Given the description of an element on the screen output the (x, y) to click on. 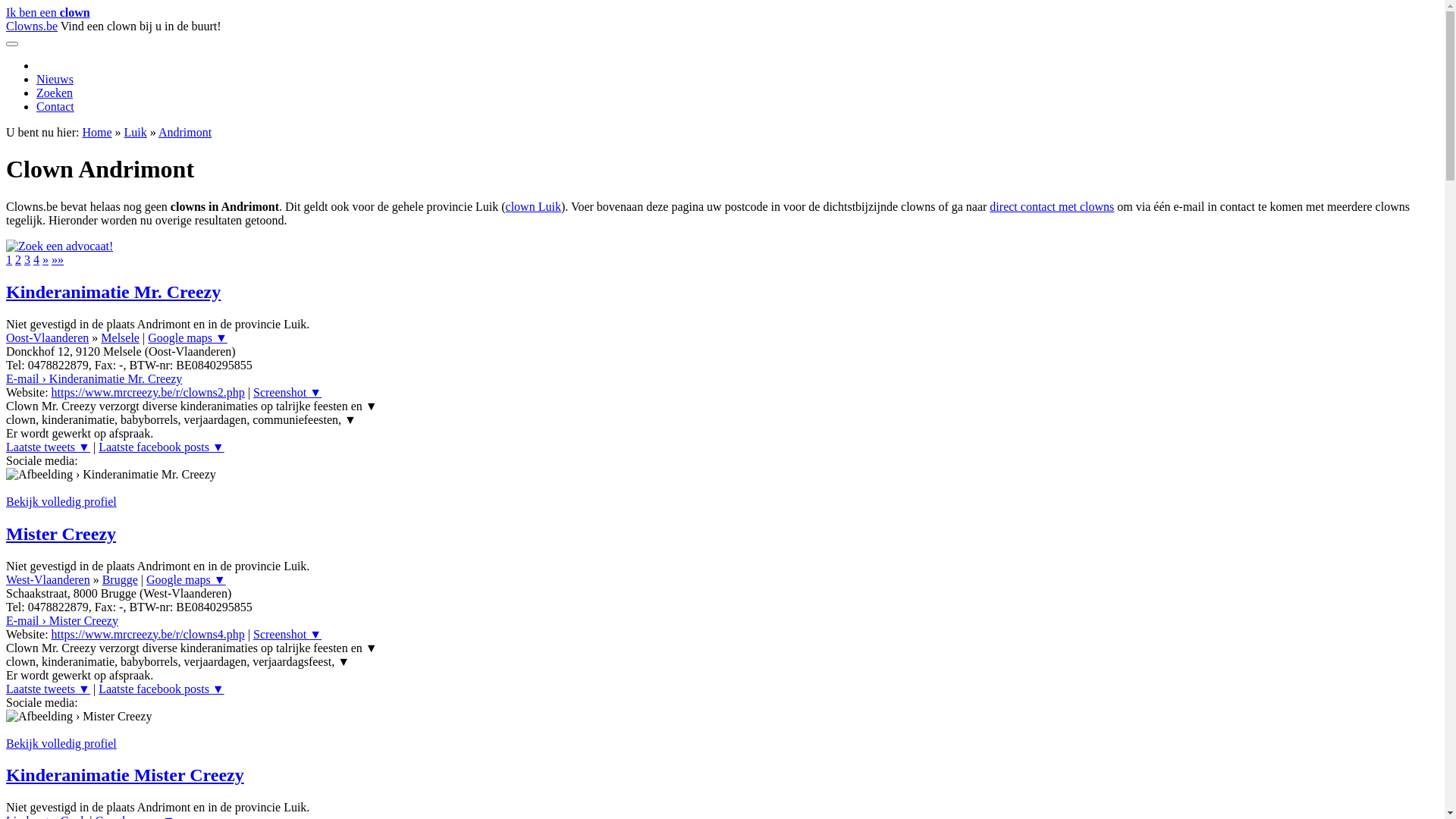
Melsele Element type: text (119, 337)
Brugge Element type: text (120, 579)
Clown kinderanimatie Element type: hover (59, 245)
Andrimont Element type: text (184, 131)
1 Element type: text (9, 259)
Nieuws Element type: text (54, 78)
Mister Creezy Element type: text (61, 533)
clown Luik Element type: text (533, 206)
Home Element type: text (96, 131)
Bekijk volledig profiel Element type: text (61, 501)
3 Element type: text (27, 259)
Clown kinderanimatie Element type: hover (59, 246)
Contact Element type: text (55, 106)
Bekijk volledig profiel Element type: text (61, 743)
West-Vlaanderen Element type: text (48, 579)
direct contact met clowns Element type: text (1051, 206)
Ik ben een clown Element type: text (48, 12)
Luik Element type: text (135, 131)
Kinderanimatie Mister Creezy Element type: text (125, 774)
Clowns.be Element type: text (31, 25)
Oost-Vlaanderen Element type: text (47, 337)
https://www.mrcreezy.be/r/clowns4.php Element type: text (147, 633)
https://www.mrcreezy.be/r/clowns2.php Element type: text (147, 391)
4 Element type: text (36, 259)
2 Element type: text (18, 259)
Zoeken Element type: text (54, 92)
Kinderanimatie Mr. Creezy Element type: text (113, 291)
